Given the description of an element on the screen output the (x, y) to click on. 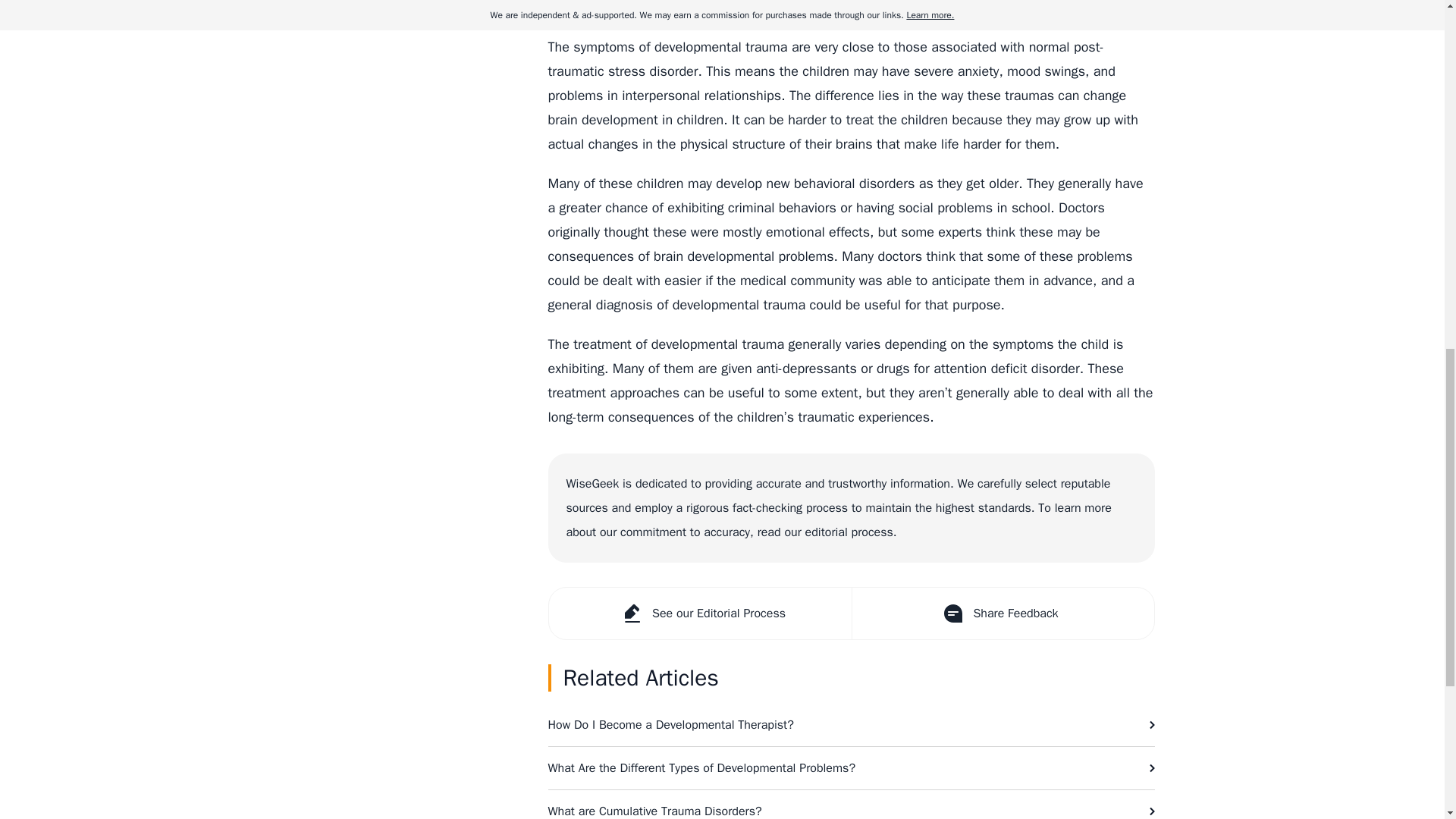
See our Editorial Process (699, 613)
Share Feedback (1001, 613)
What are Cumulative Trauma Disorders? (850, 804)
How Do I Become a Developmental Therapist? (850, 724)
What Are the Different Types of Developmental Problems? (850, 767)
